Given the description of an element on the screen output the (x, y) to click on. 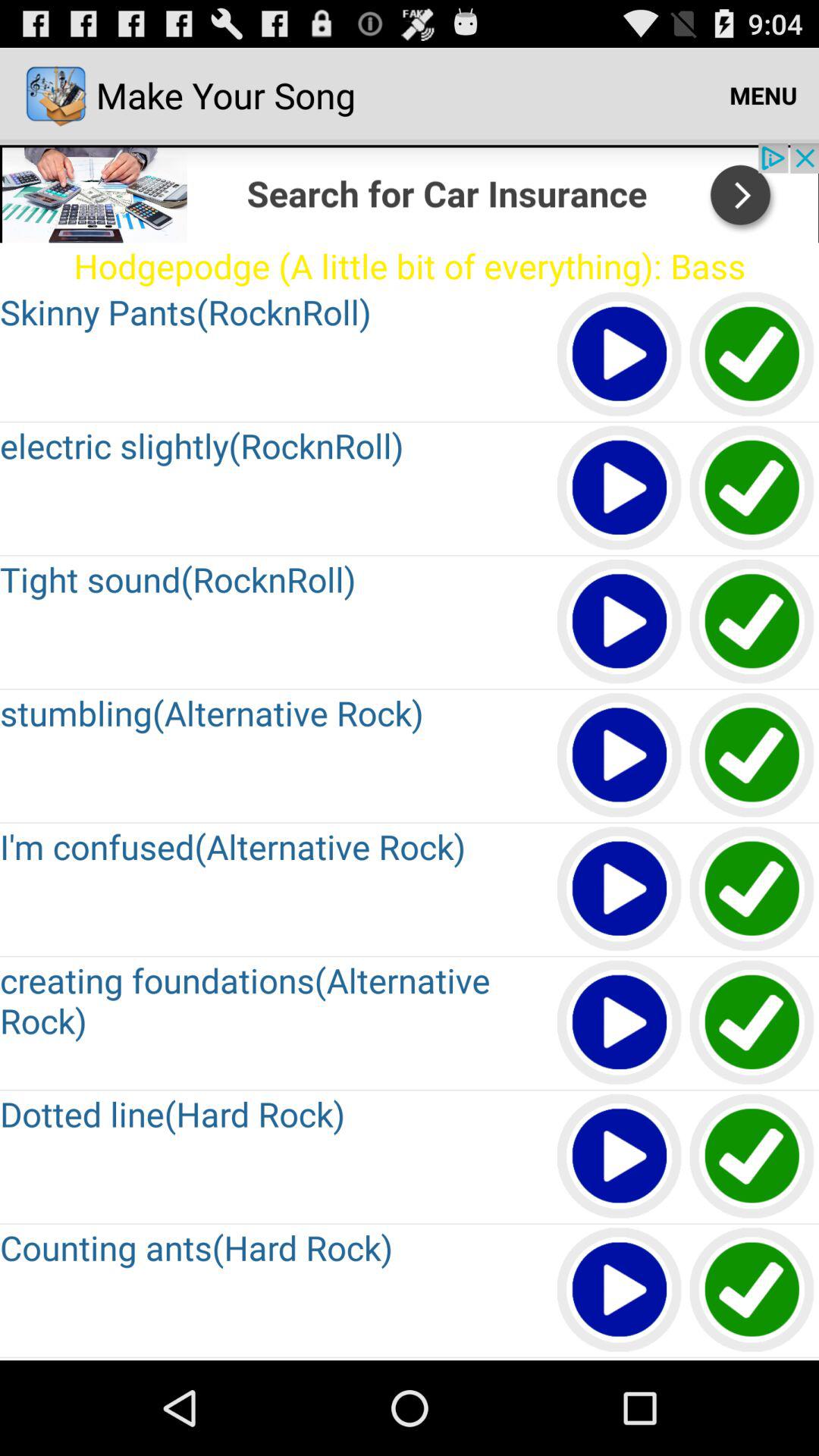
switch autoplay option (752, 1023)
